Given the description of an element on the screen output the (x, y) to click on. 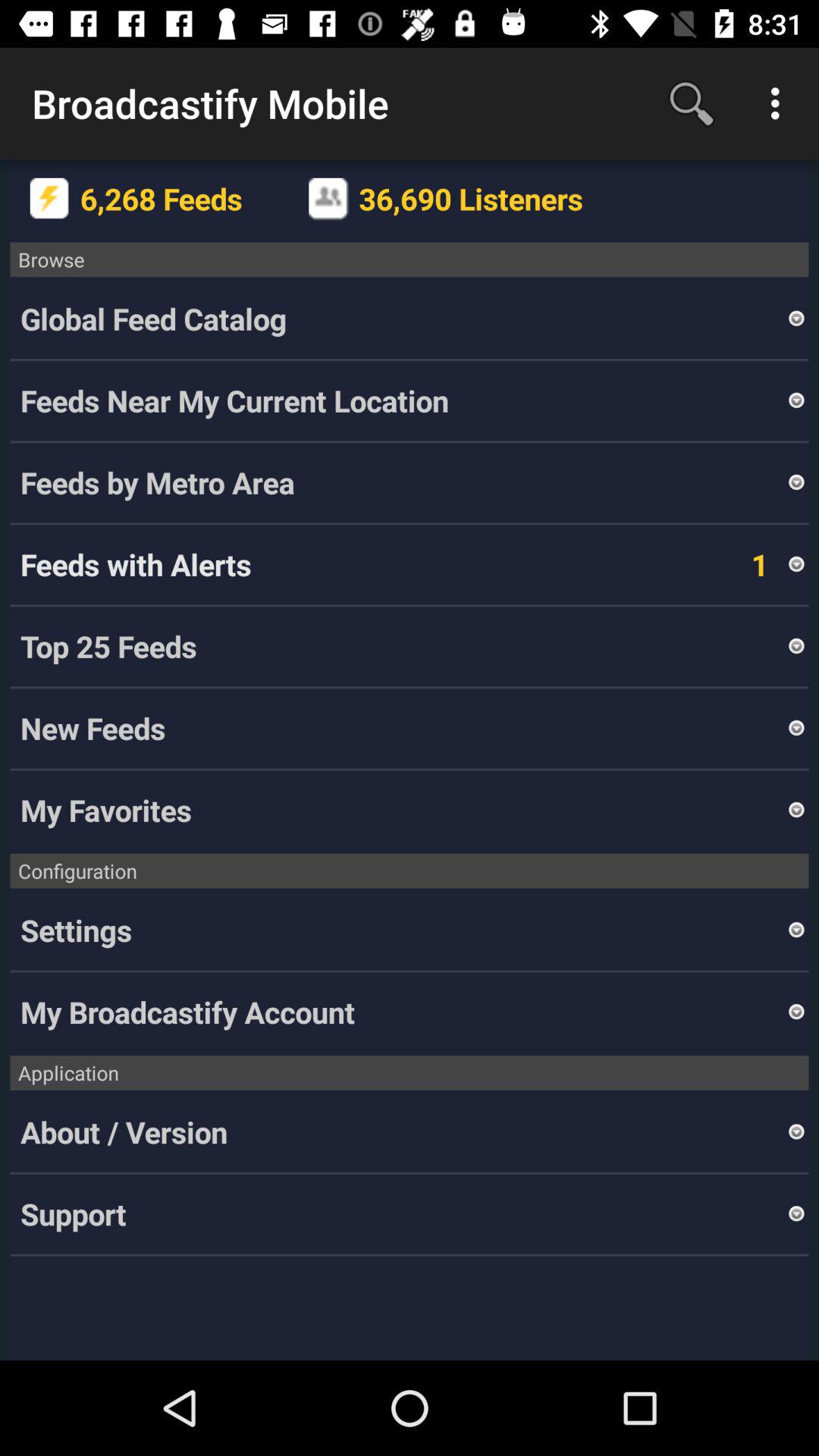
flip until the 1 icon (738, 564)
